Given the description of an element on the screen output the (x, y) to click on. 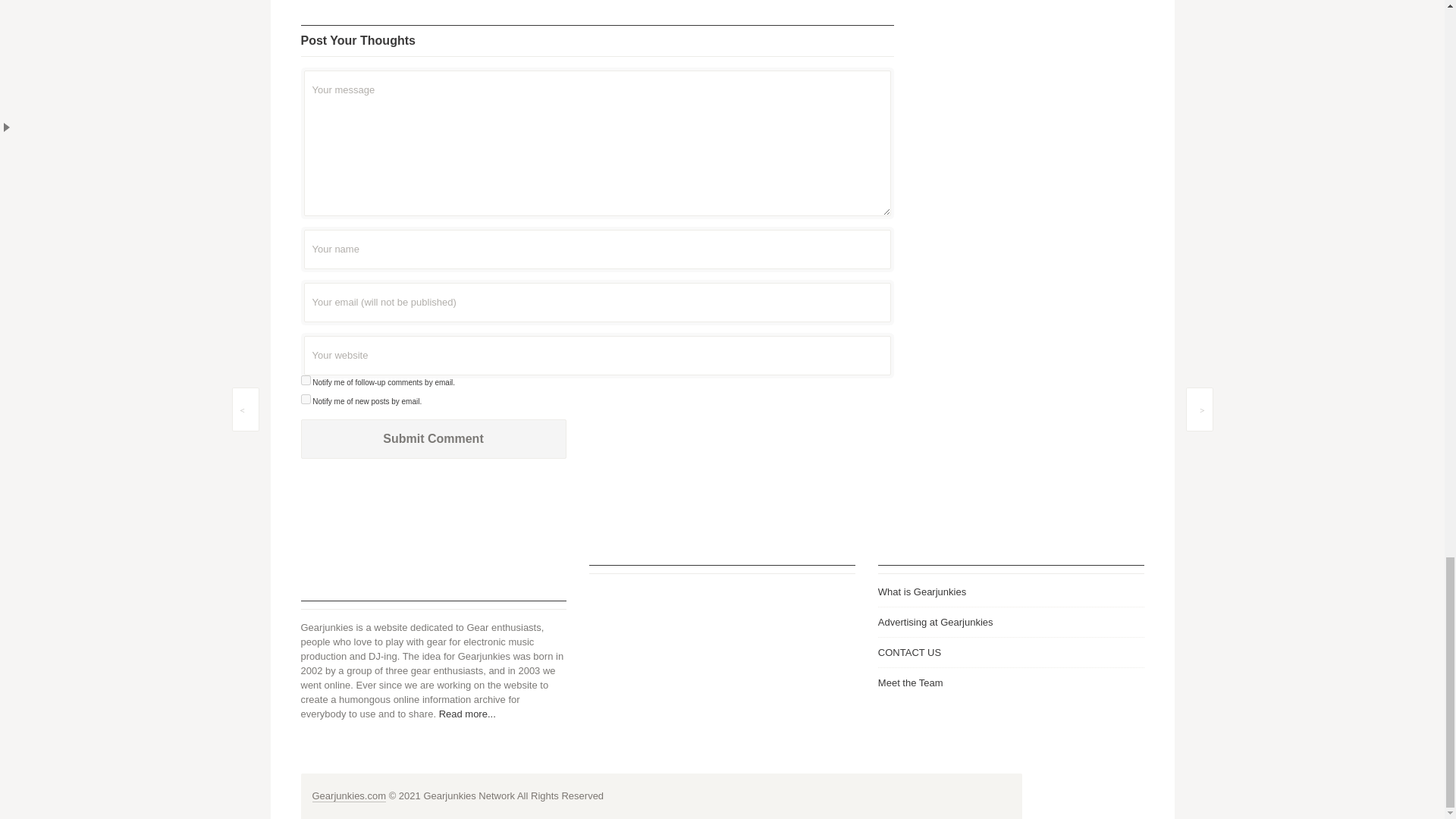
Submit Comment (432, 438)
subscribe (304, 398)
subscribe (304, 379)
